Given the description of an element on the screen output the (x, y) to click on. 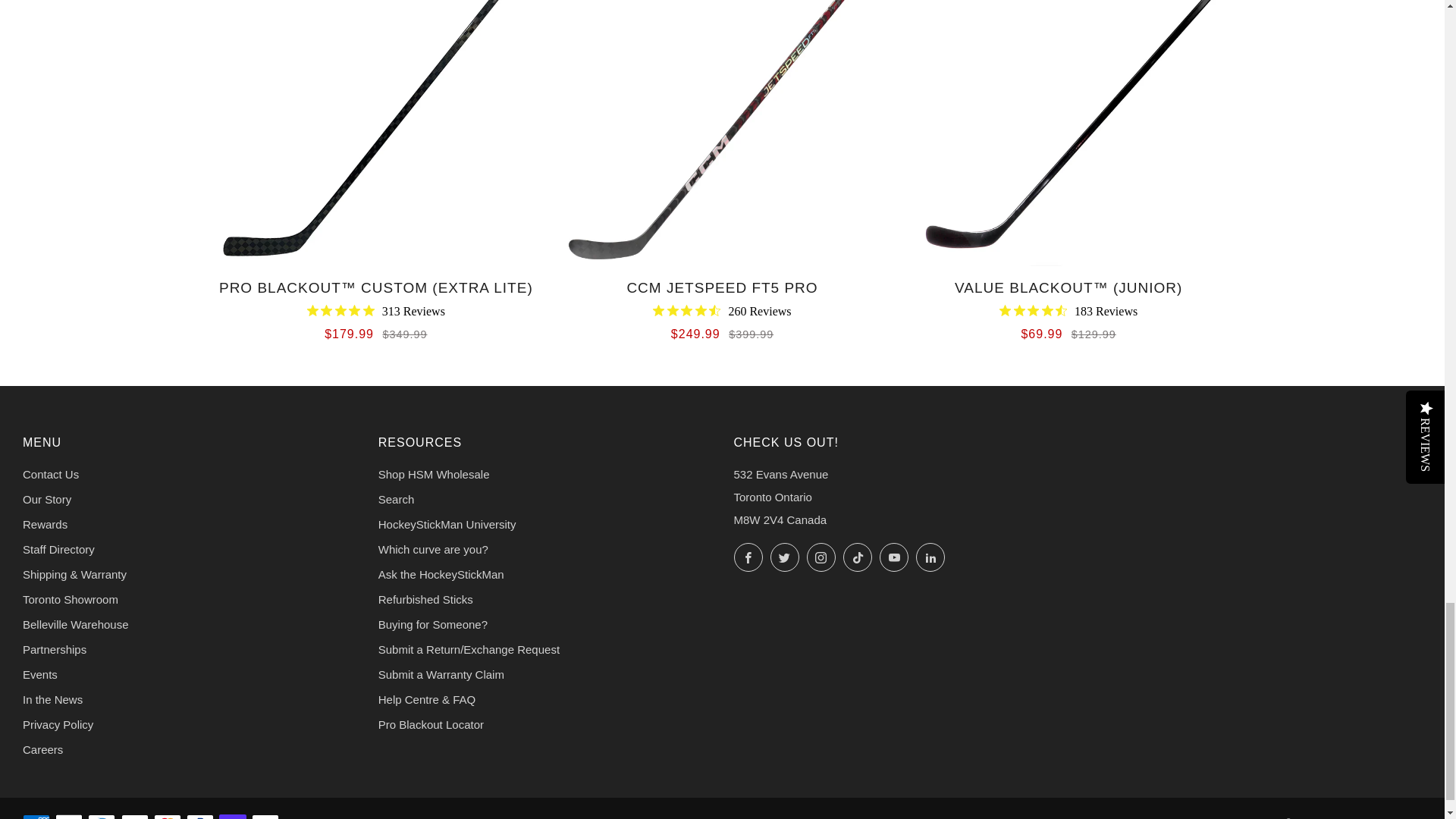
313 Reviews (376, 311)
260 Reviews (721, 311)
183 Reviews (1067, 311)
